Given the description of an element on the screen output the (x, y) to click on. 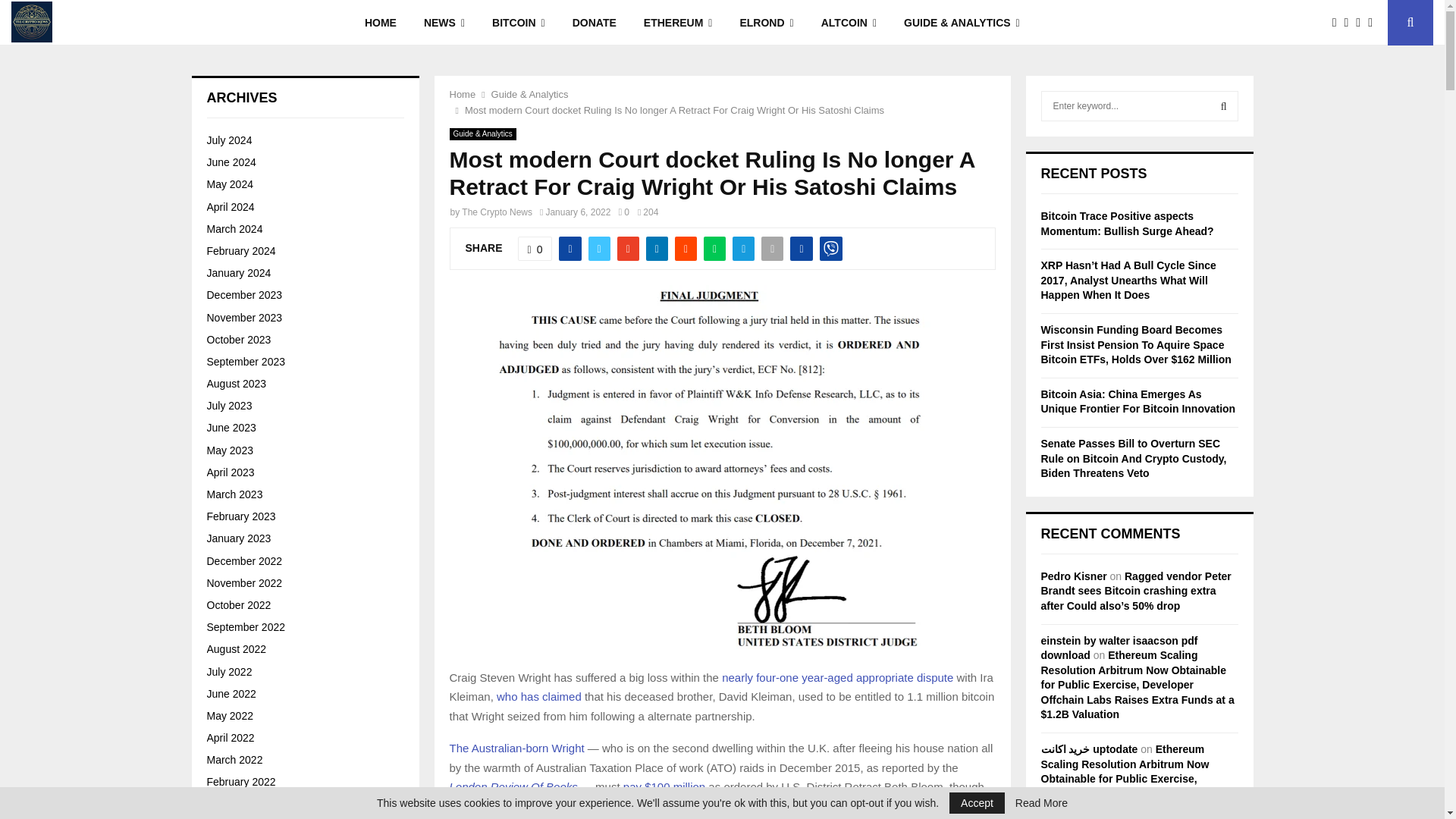
BITCOIN (519, 22)
HOME (380, 22)
NEWS (444, 22)
